Given the description of an element on the screen output the (x, y) to click on. 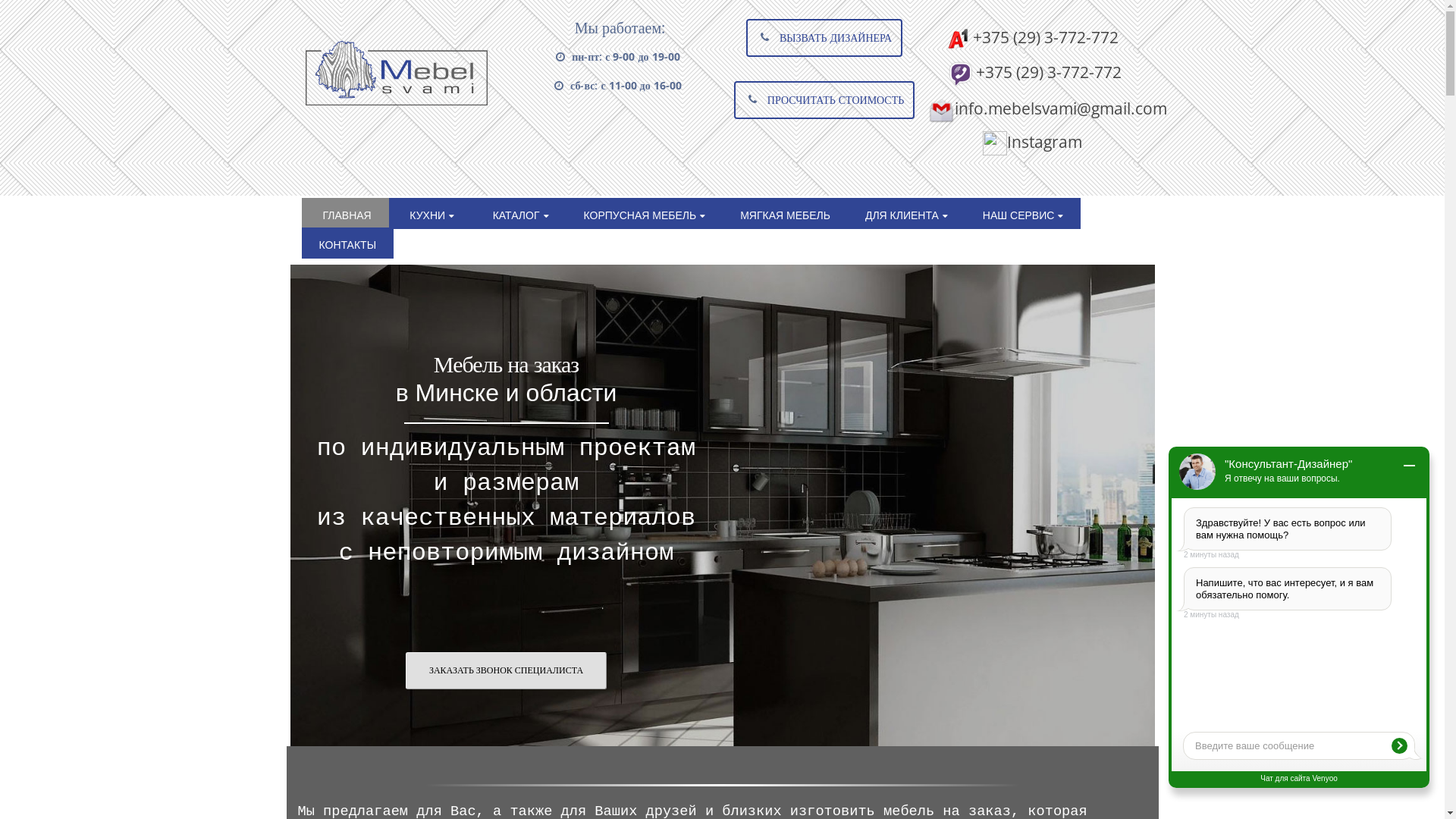
info.mebelsvami@gmail.com Element type: text (1047, 108)
+375 (29) 3-772-772 Element type: text (1032, 71)
+375 (29) 3-772-772 Element type: text (1032, 36)
Instagram Element type: text (1032, 141)
